Given the description of an element on the screen output the (x, y) to click on. 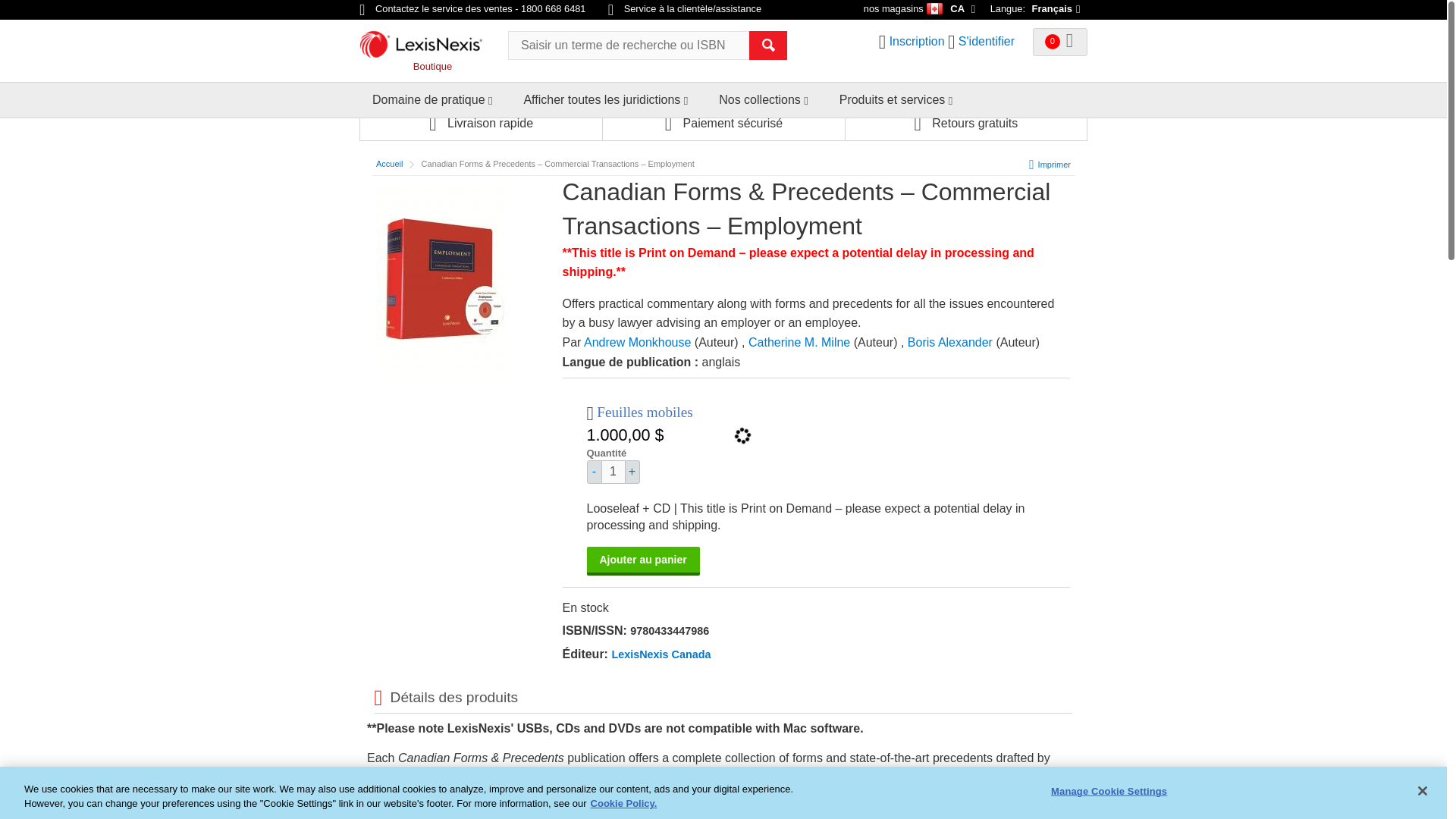
Inscription (916, 41)
0 (1059, 41)
Domaine de pratique (428, 99)
Lexis Nexis Boutique (427, 48)
Contactez le service des ventes - 1800 668 6481 (473, 8)
Recherche (768, 45)
1 (613, 472)
S'identifier (986, 41)
Recherche (768, 45)
